Given the description of an element on the screen output the (x, y) to click on. 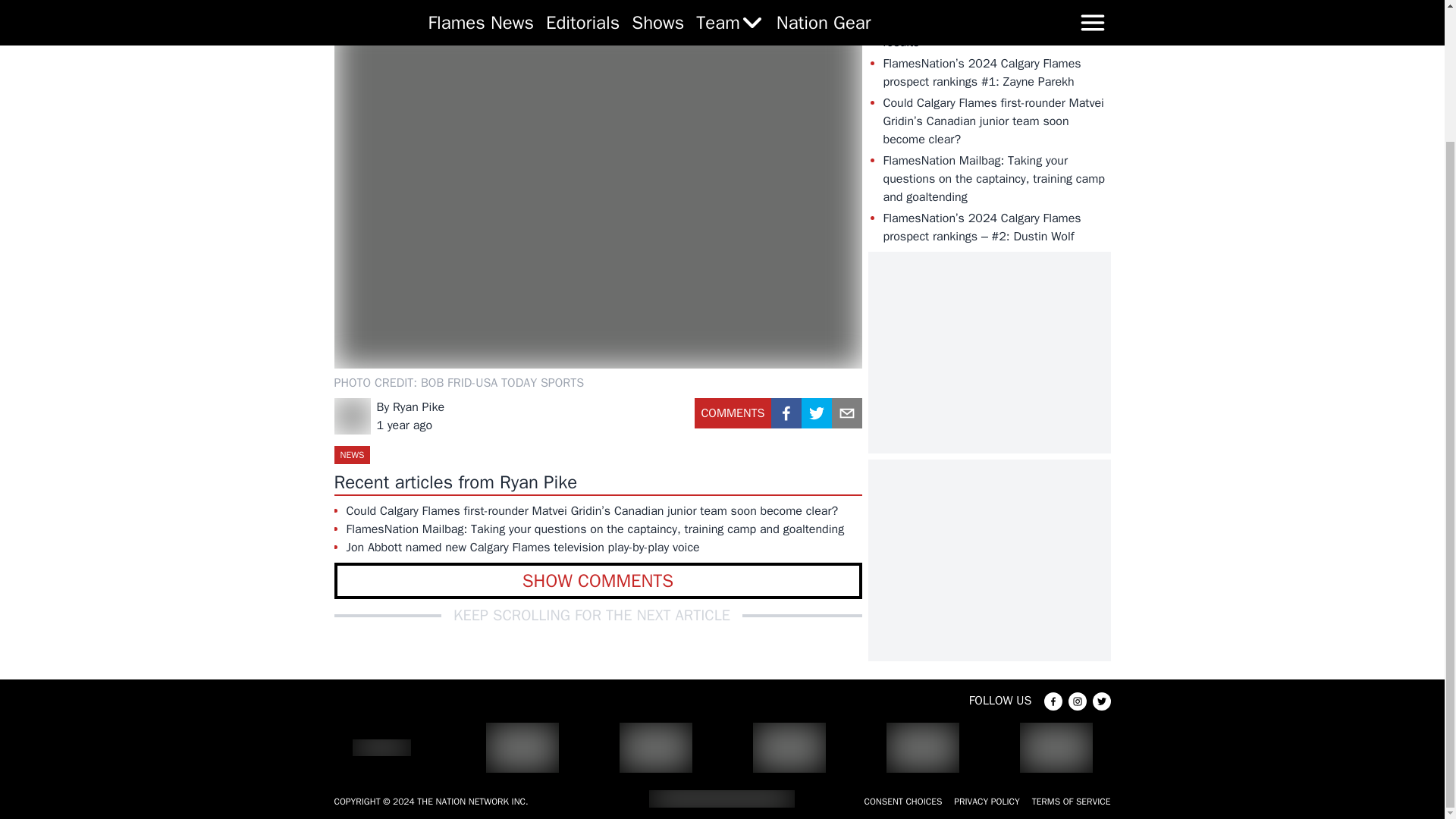
Calgary Flames all time prime team survey results (994, 32)
COMMENTS (732, 418)
SHOW COMMENTS (597, 580)
SHOW COMMENTS (597, 580)
NEWS (351, 454)
Ryan Pike (418, 406)
